Given the description of an element on the screen output the (x, y) to click on. 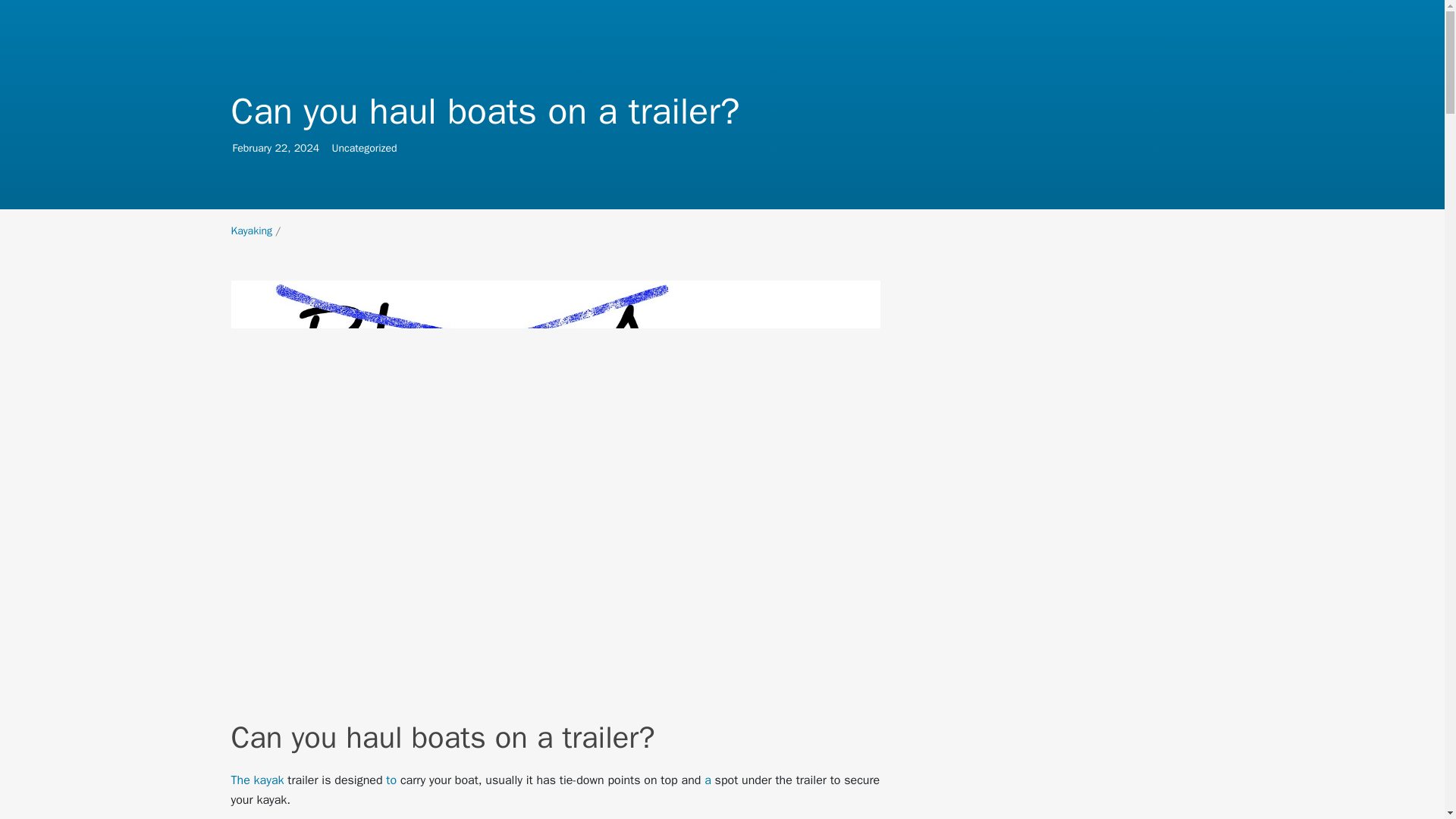
February (250, 147)
2024 (307, 147)
kayak (268, 780)
The (239, 780)
22 (251, 230)
